Given the description of an element on the screen output the (x, y) to click on. 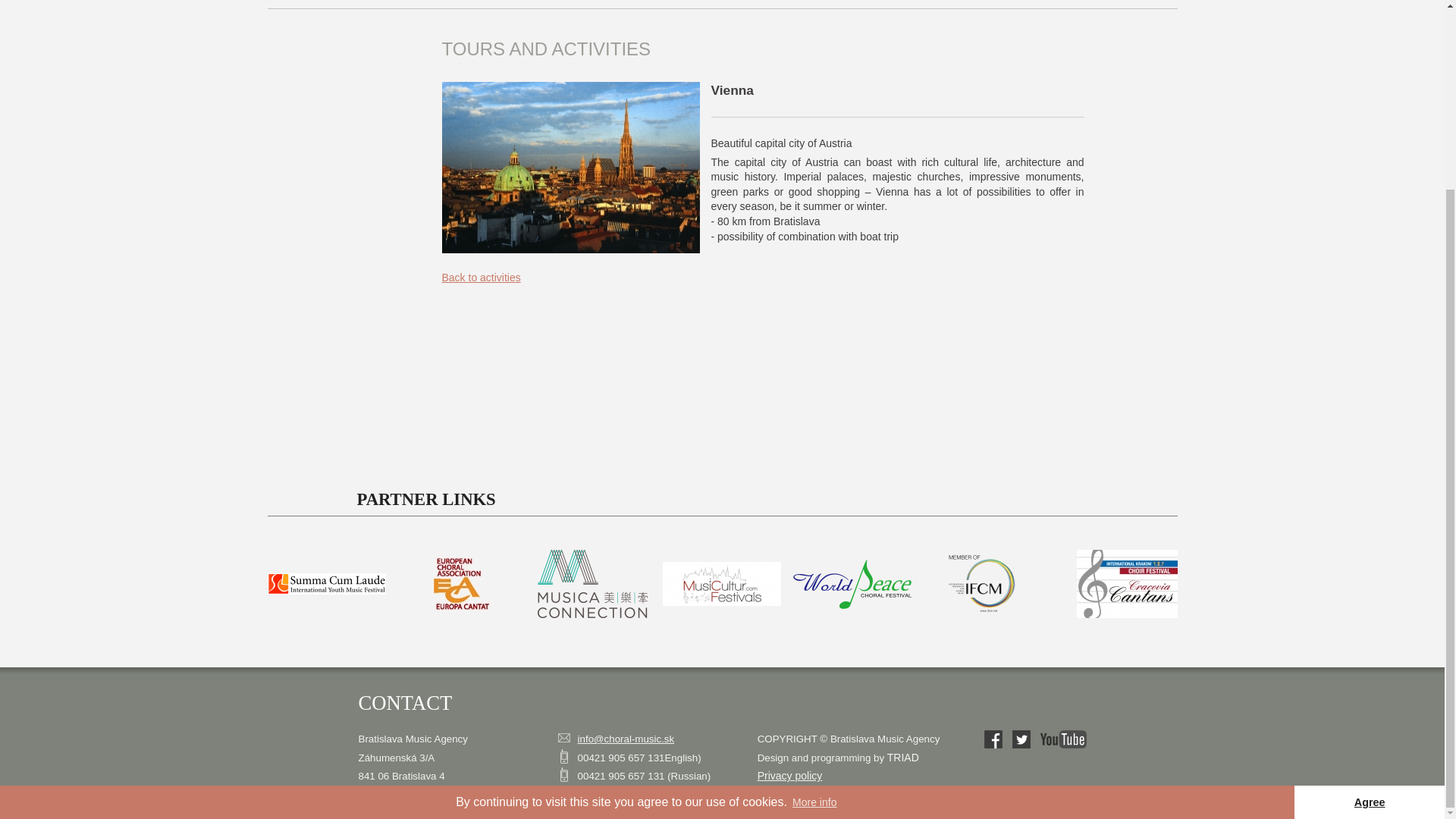
Festival's profile (395, 4)
Musica Connection (592, 583)
Ensembles (775, 4)
Tours and activities (912, 4)
TRIAD (902, 757)
Back to activities (480, 277)
Upcoming editions (1013, 4)
Jury (726, 4)
Summa Cum Laude (325, 583)
Facebook (993, 739)
